Given the description of an element on the screen output the (x, y) to click on. 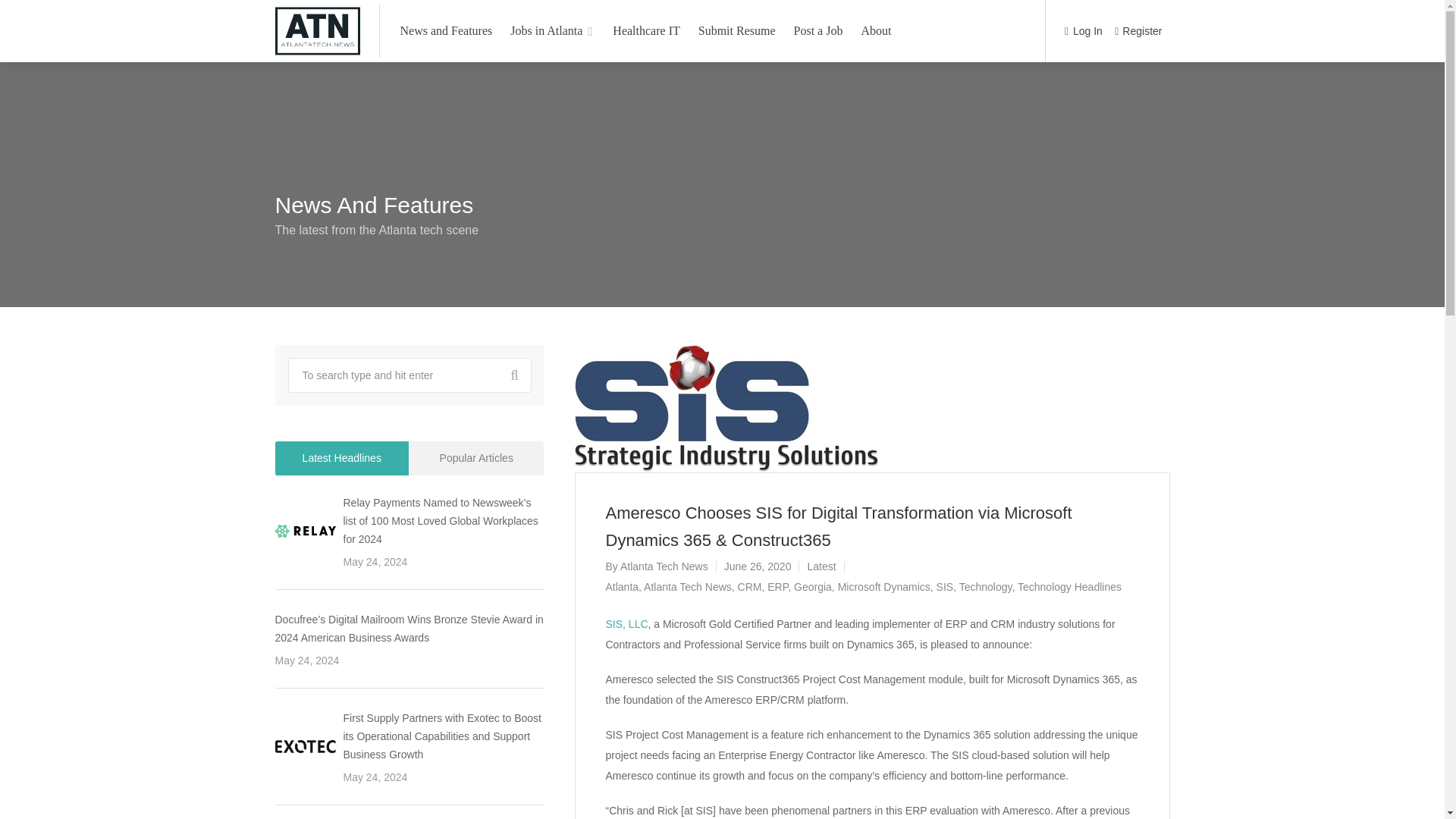
About (875, 30)
Submit Resume (737, 30)
Microsoft Dynamics (884, 586)
Recent Posts (342, 458)
Atlanta (622, 586)
SIS, LLC (626, 623)
Atlanta Tech News (687, 586)
News and Features (445, 30)
Post a Job (818, 30)
Atlanta Tech News (663, 566)
Latest (820, 566)
Log In (1083, 31)
Georgia (812, 586)
ERP (777, 586)
Register (1138, 31)
